Given the description of an element on the screen output the (x, y) to click on. 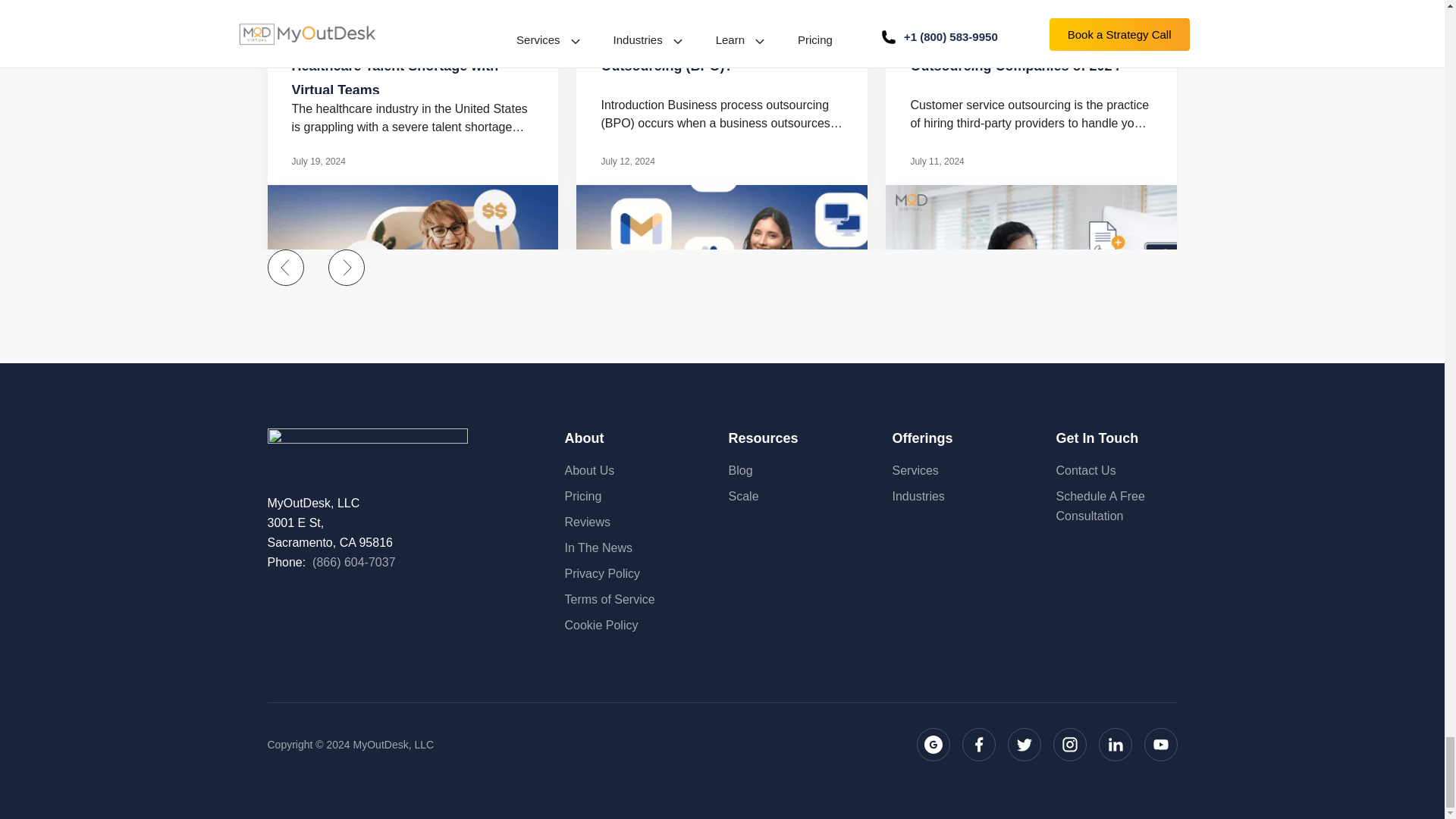
MOD-Logo-Small-No-Padding (366, 443)
